Given the description of an element on the screen output the (x, y) to click on. 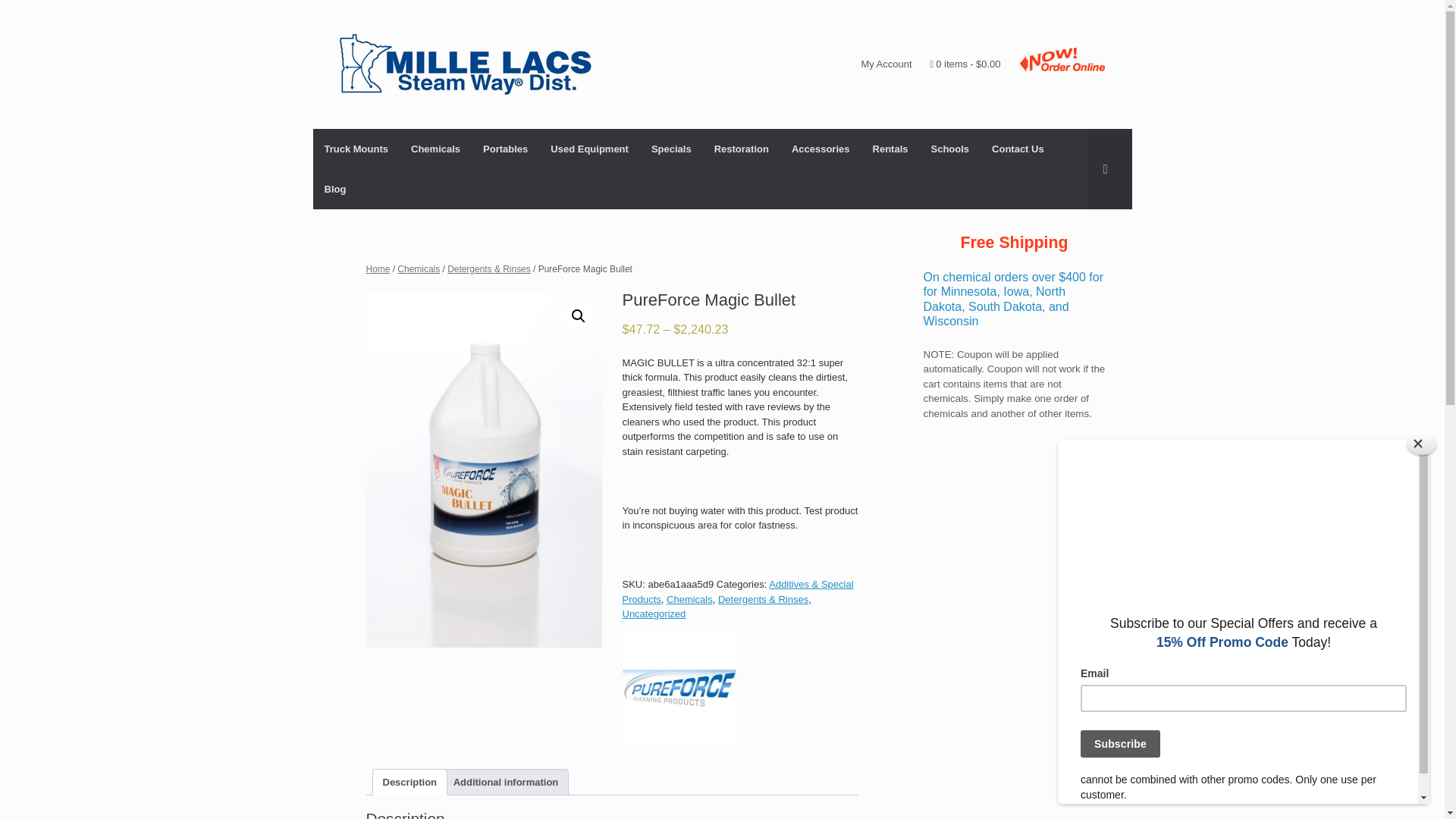
Rentals (890, 148)
Start shopping (965, 63)
Specials (671, 148)
Chemicals (434, 148)
Mille Lacs Steamway (465, 64)
Used Equipment (589, 148)
Truck Mounts (355, 148)
Schools (948, 148)
My Account (885, 63)
Mille Lacs Steamway - Now order online! (1062, 59)
Portables (504, 148)
PUREFORCE (678, 690)
Accessories (820, 148)
Restoration (741, 148)
Contact Us (1017, 148)
